Given the description of an element on the screen output the (x, y) to click on. 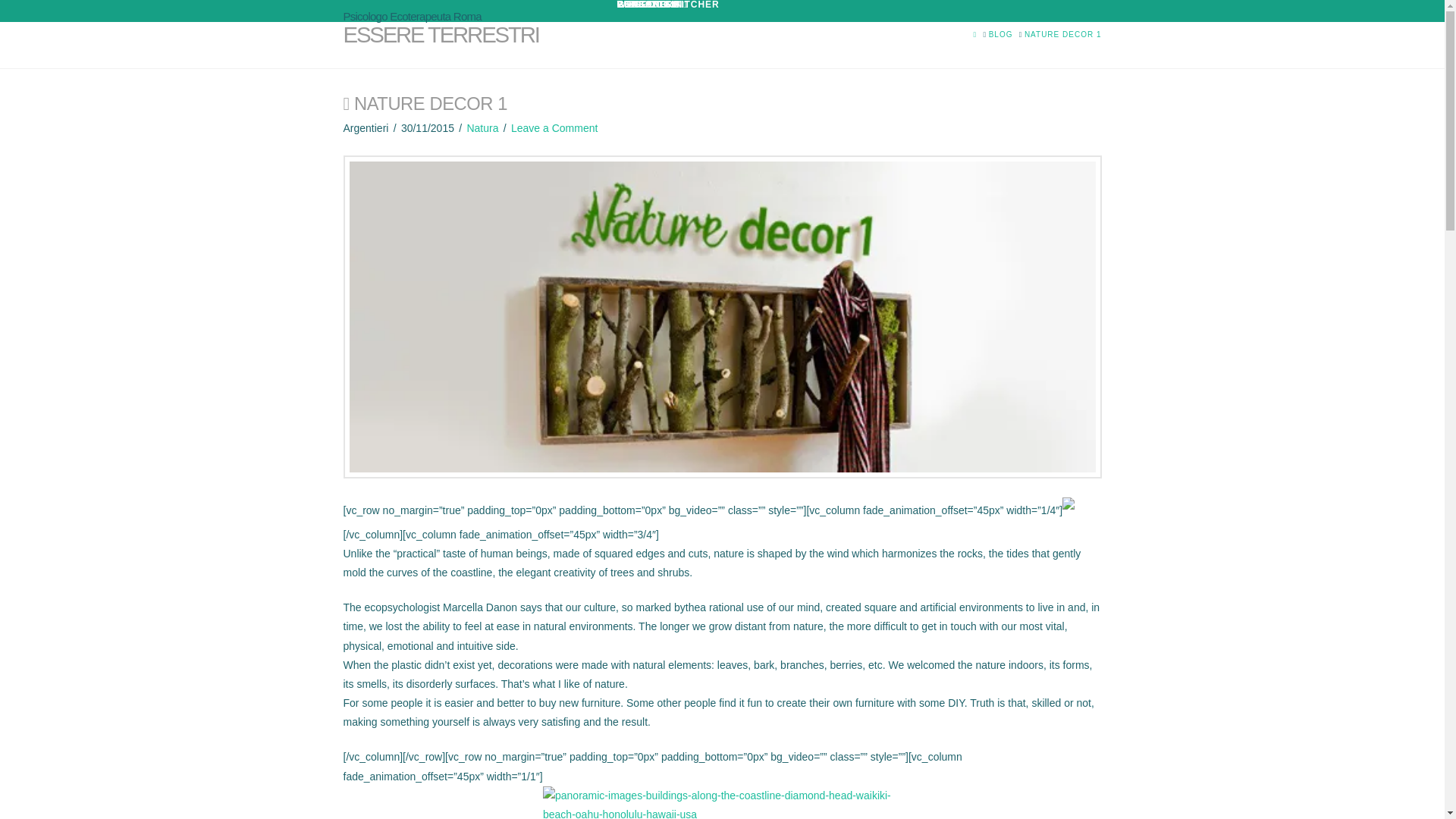
Psicologo Ecoterapeuta Roma (411, 16)
NATURE DECOR 1 (1063, 34)
BLOG (1000, 34)
Natura (481, 128)
You Are Here (1063, 34)
